Given the description of an element on the screen output the (x, y) to click on. 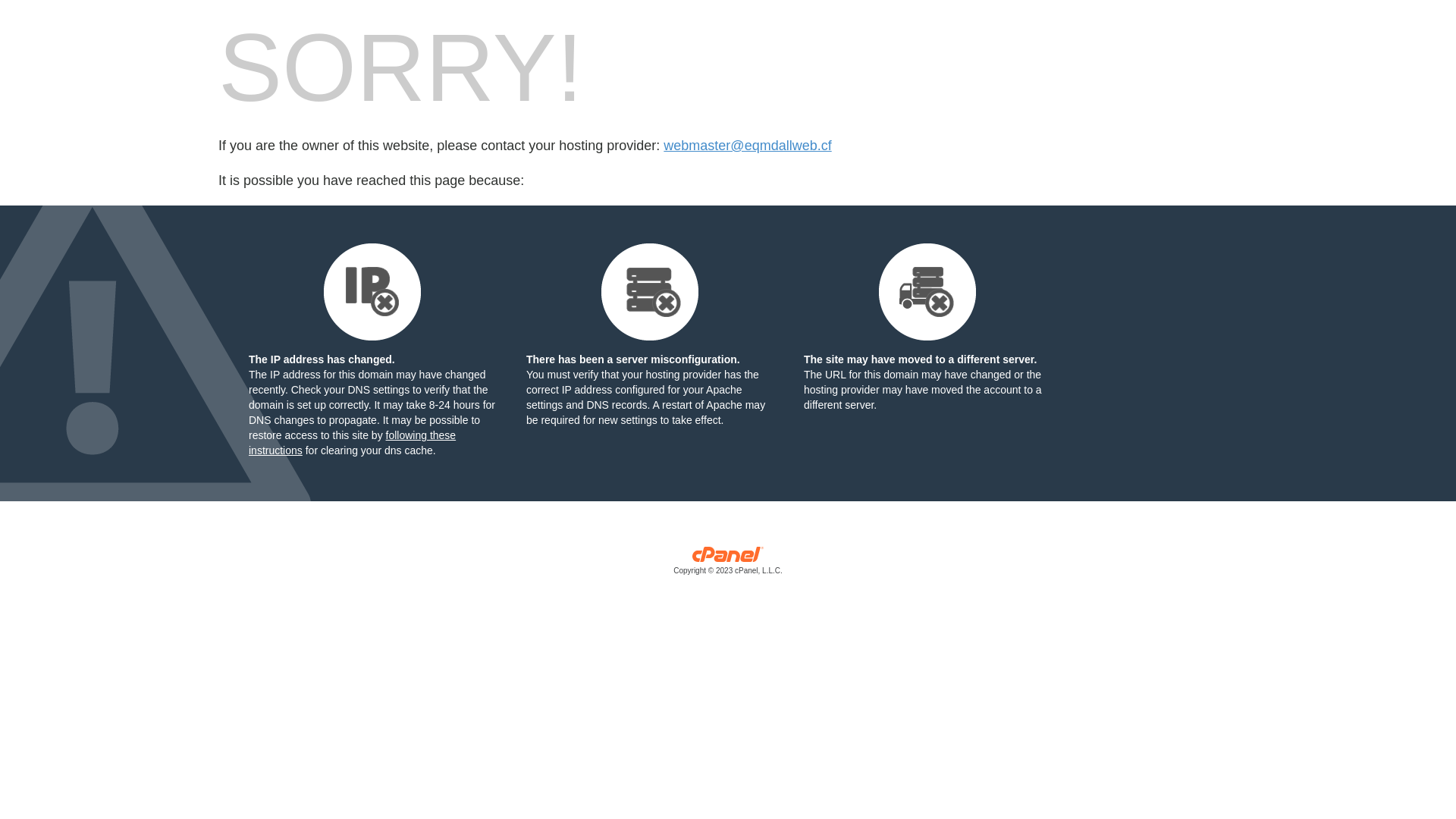
following these instructions Element type: text (351, 442)
webmaster@eqmdallweb.cf Element type: text (747, 145)
